Given the description of an element on the screen output the (x, y) to click on. 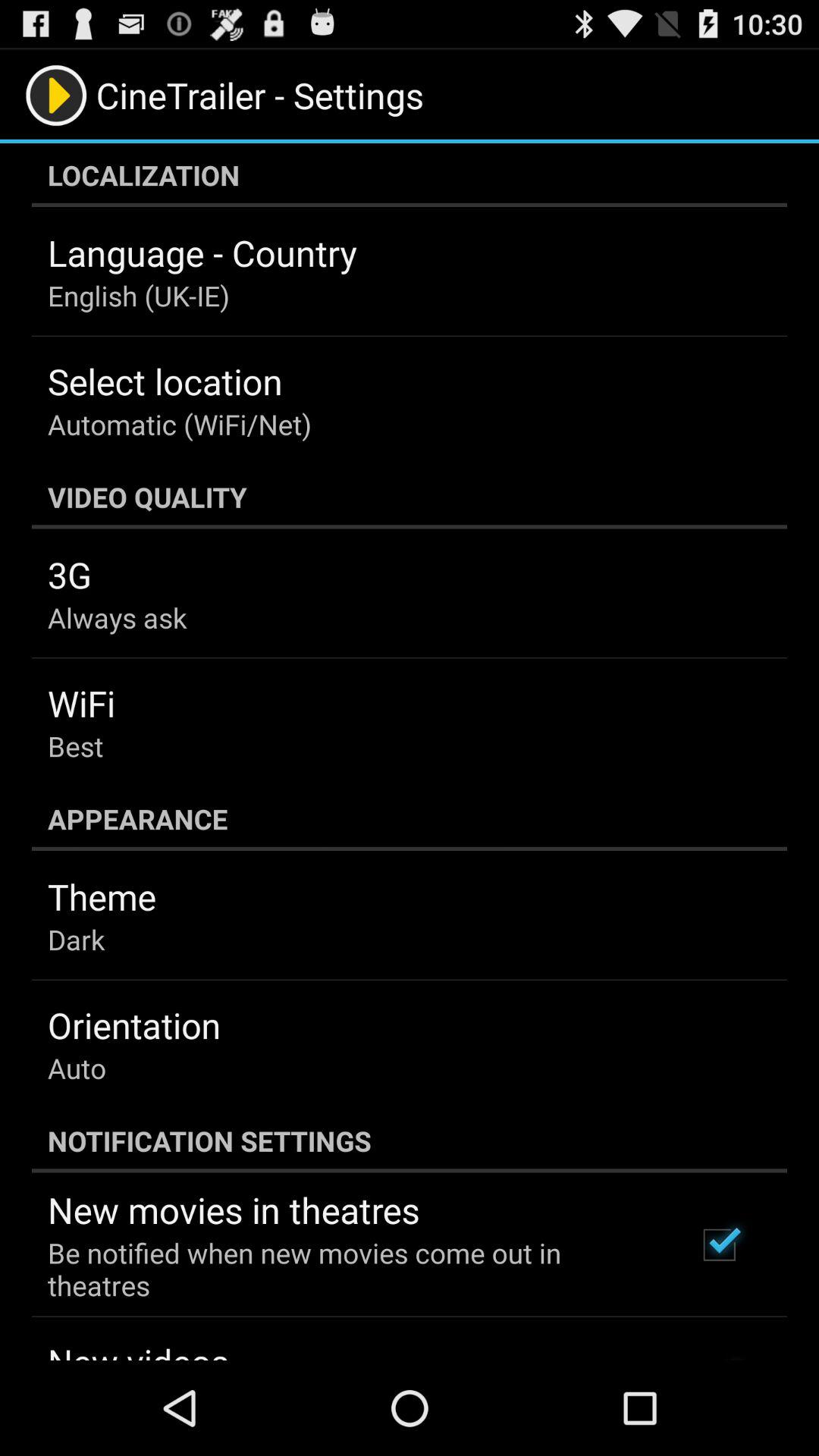
tap the item above automatic (wifi/net) item (164, 381)
